Given the description of an element on the screen output the (x, y) to click on. 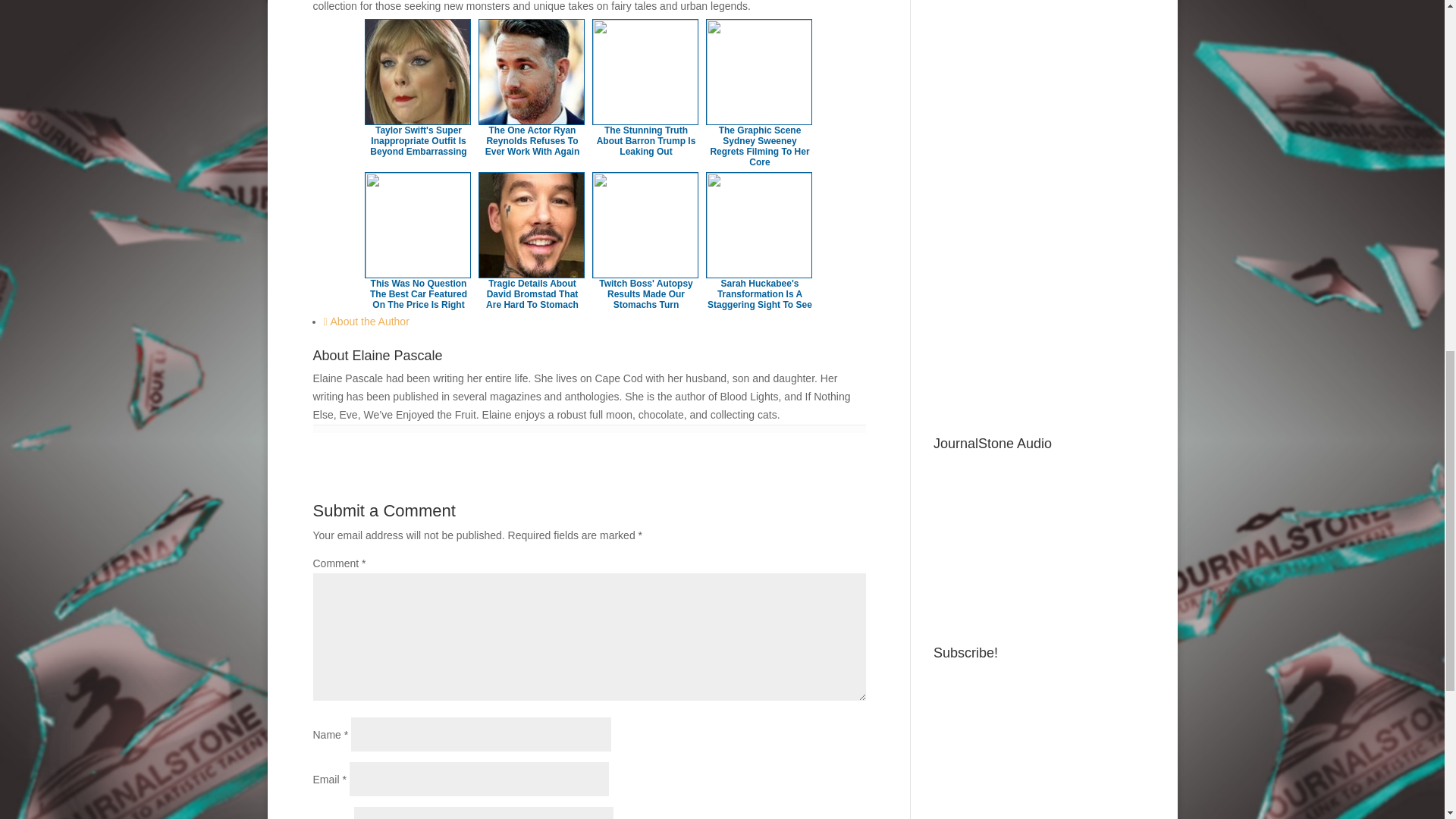
The Graphic Scene Sydney Sweeney Regrets Filming To Her Core (759, 146)
The One Actor Ryan Reynolds Refuses To Ever Work With Again (531, 141)
Sarah Huckabee's Transformation Is A Staggering Sight To See (759, 294)
Twitch Boss' Autopsy Results Made Our Stomachs Turn (645, 294)
About the Author (366, 321)
The Stunning Truth About Barron Trump Is Leaking Out (645, 141)
Tragic Details About David Bromstad That Are Hard To Stomach (532, 294)
